Given the description of an element on the screen output the (x, y) to click on. 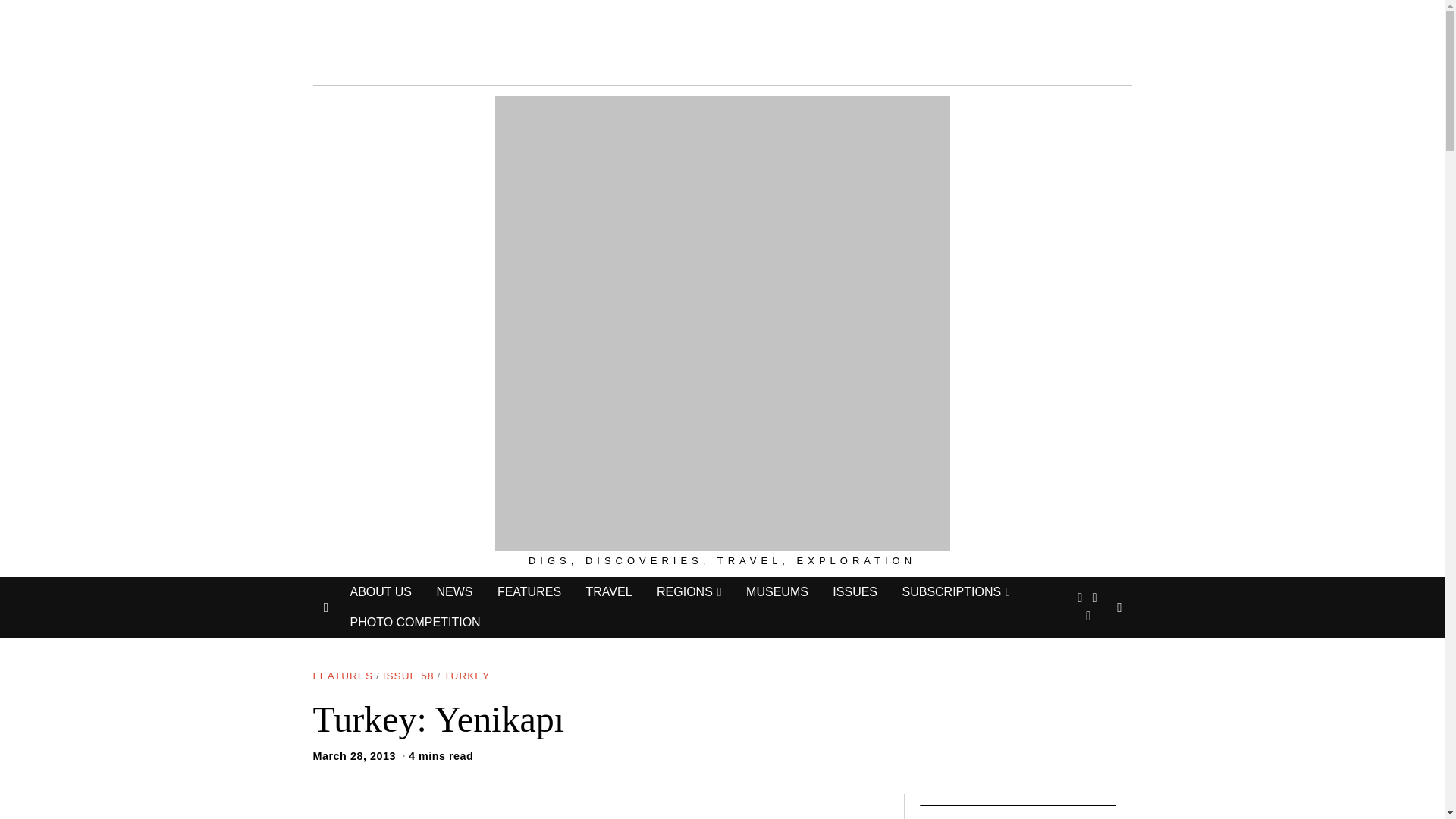
3rd party ad content (721, 38)
TRAVEL (608, 592)
ABOUT US (380, 592)
FEATURES (529, 592)
REGIONS (689, 592)
NEWS (454, 592)
